Given the description of an element on the screen output the (x, y) to click on. 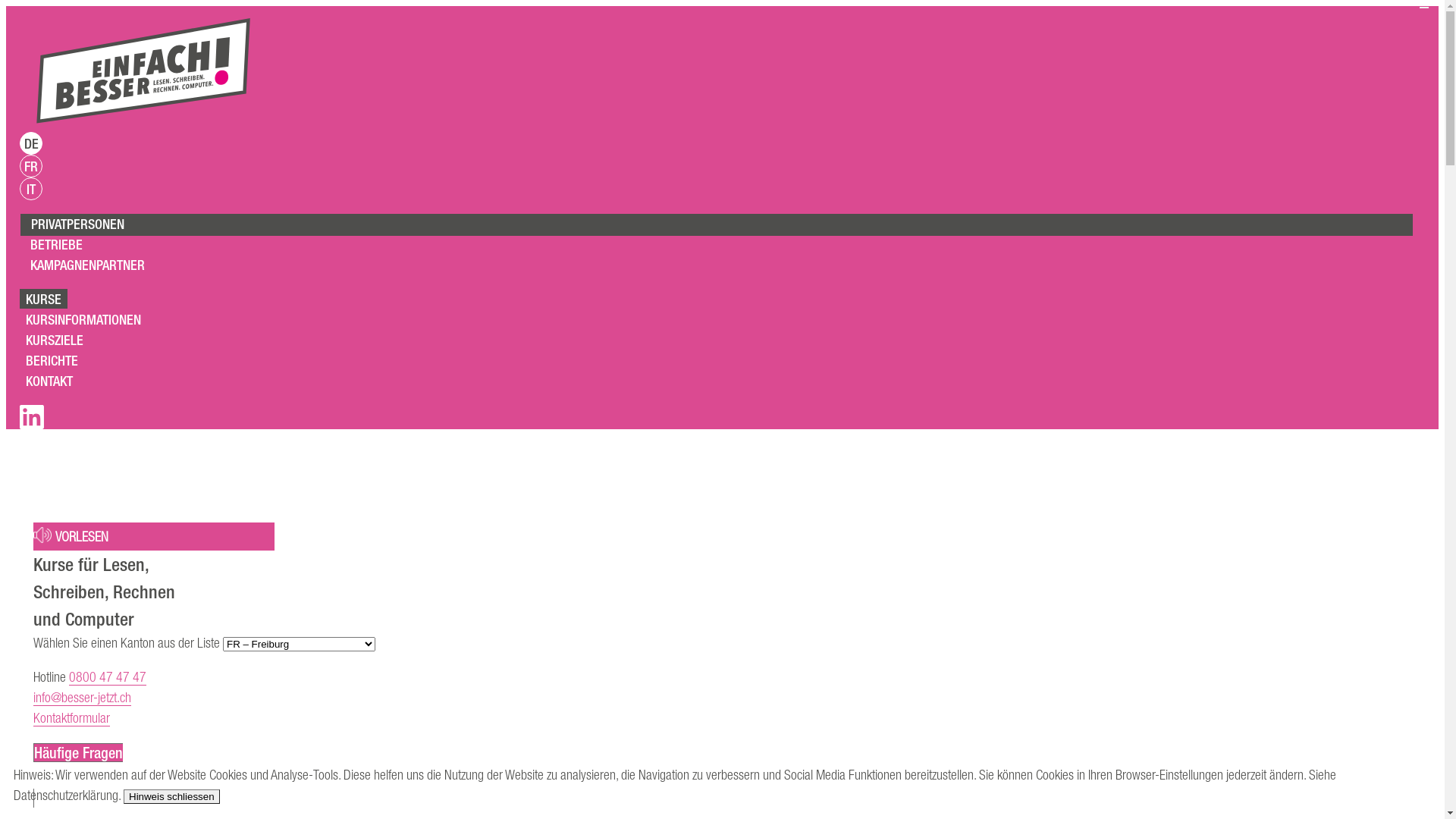
KURSE Element type: text (43, 298)
KONTAKT Element type: text (48, 380)
0800 47 47 47 Element type: text (107, 676)
IT Element type: text (30, 188)
Hinweis schliessen Element type: text (171, 796)
PRIVATPERSONEN Element type: text (77, 224)
VORLESEN Element type: text (70, 536)
KAMPAGNENPARTNER Element type: text (87, 265)
info@besser-jetzt.ch Element type: text (82, 697)
KURSINFORMATIONEN Element type: text (83, 319)
BETRIEBE Element type: text (56, 244)
Kontaktformular Element type: text (71, 717)
FR Element type: text (30, 165)
DE Element type: text (30, 142)
BERICHTE Element type: text (51, 360)
KURSZIELE Element type: text (54, 339)
